Given the description of an element on the screen output the (x, y) to click on. 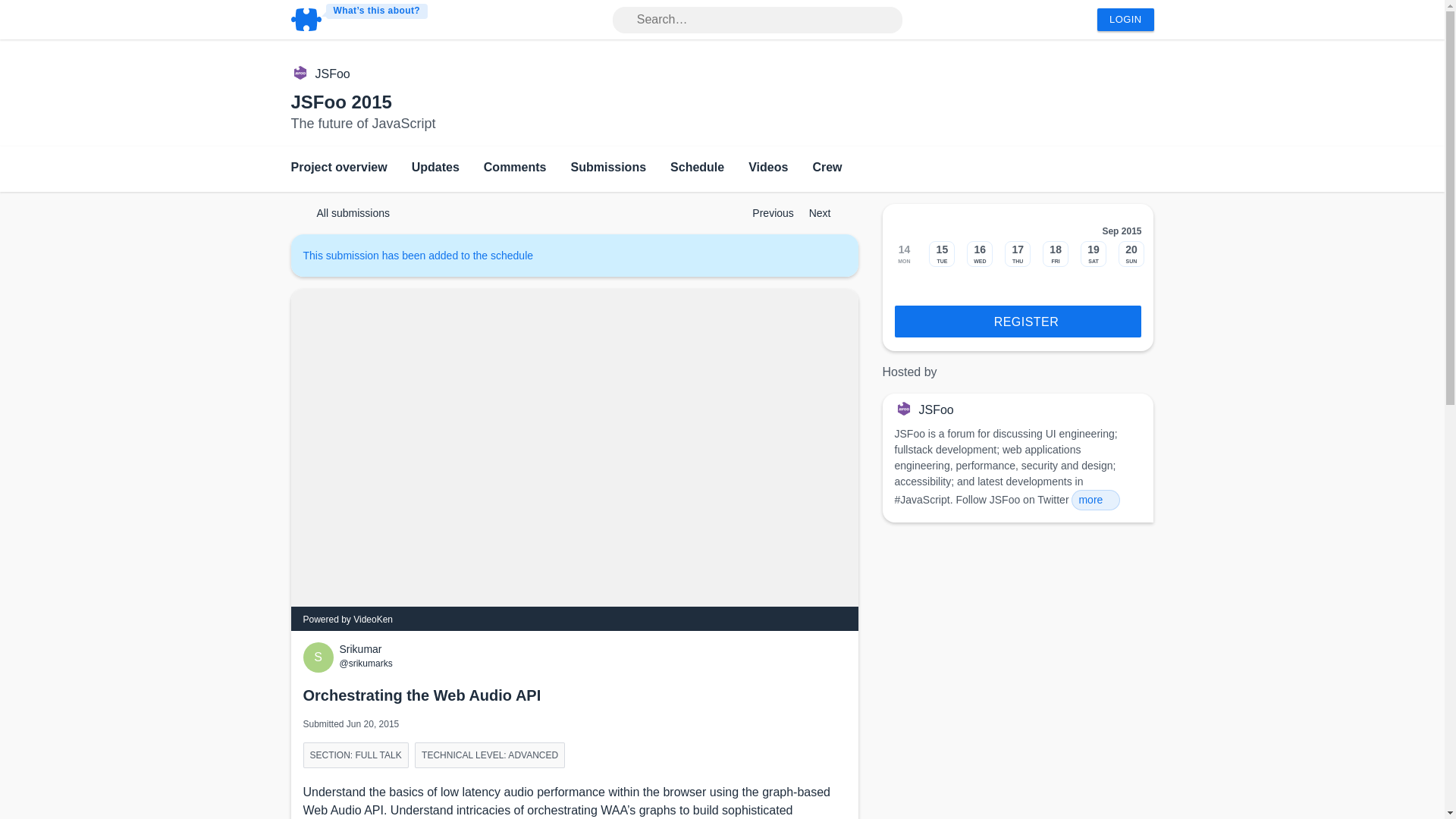
Videos (767, 168)
Schedule (696, 168)
JSFoo (332, 74)
Next (827, 213)
All submissions (346, 212)
Powered by VideoKen (347, 619)
Project overview (339, 168)
JSFoo 2015 (341, 101)
Crew (826, 168)
Updates (436, 168)
This submission has been added to the schedule (425, 255)
Submissions (608, 168)
Previous (766, 213)
Comments (515, 168)
LOGIN (1125, 19)
